Given the description of an element on the screen output the (x, y) to click on. 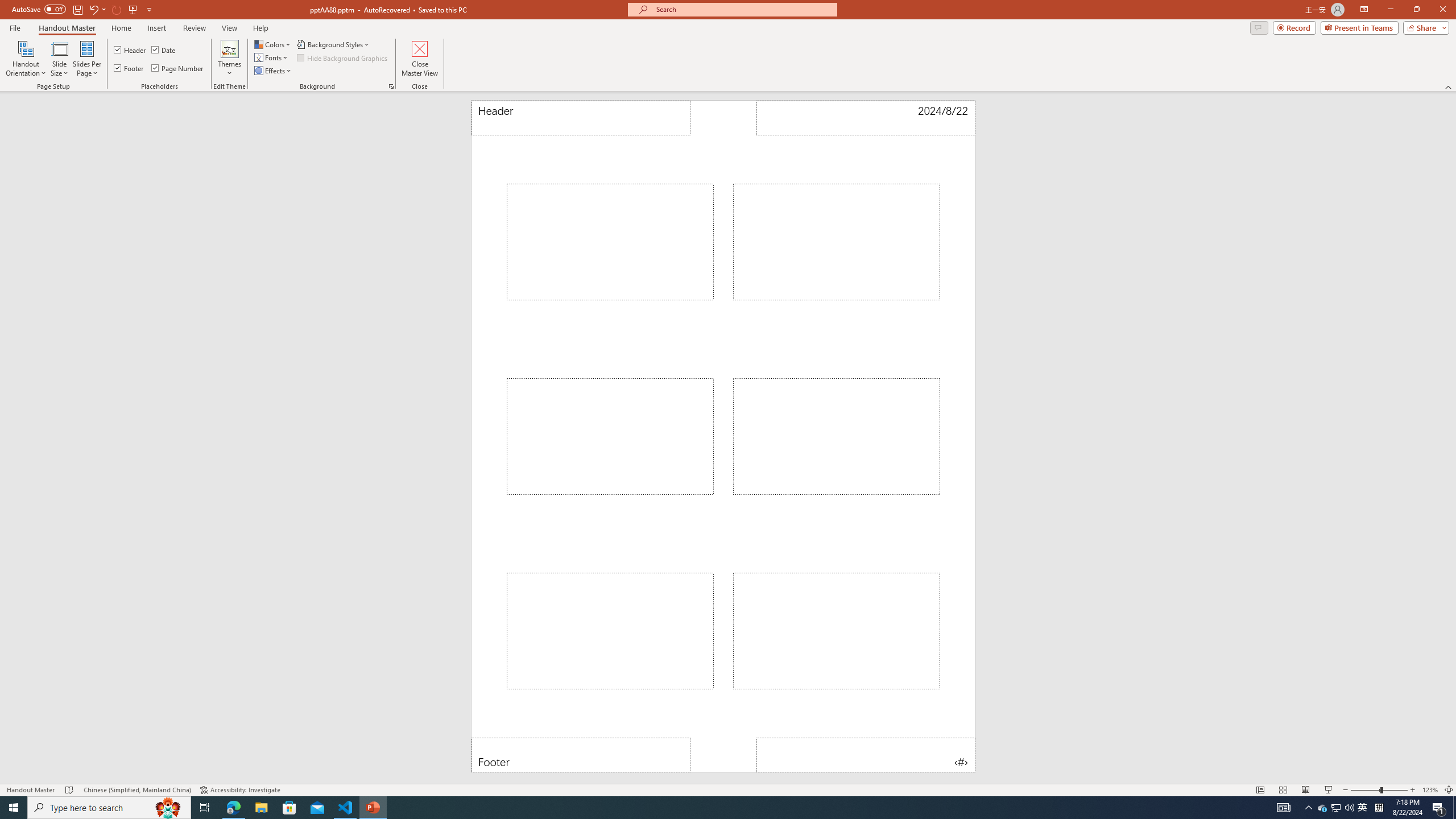
Handout Orientation (26, 58)
Handout Master (66, 28)
Page Number (177, 67)
Effects (273, 69)
